Given the description of an element on the screen output the (x, y) to click on. 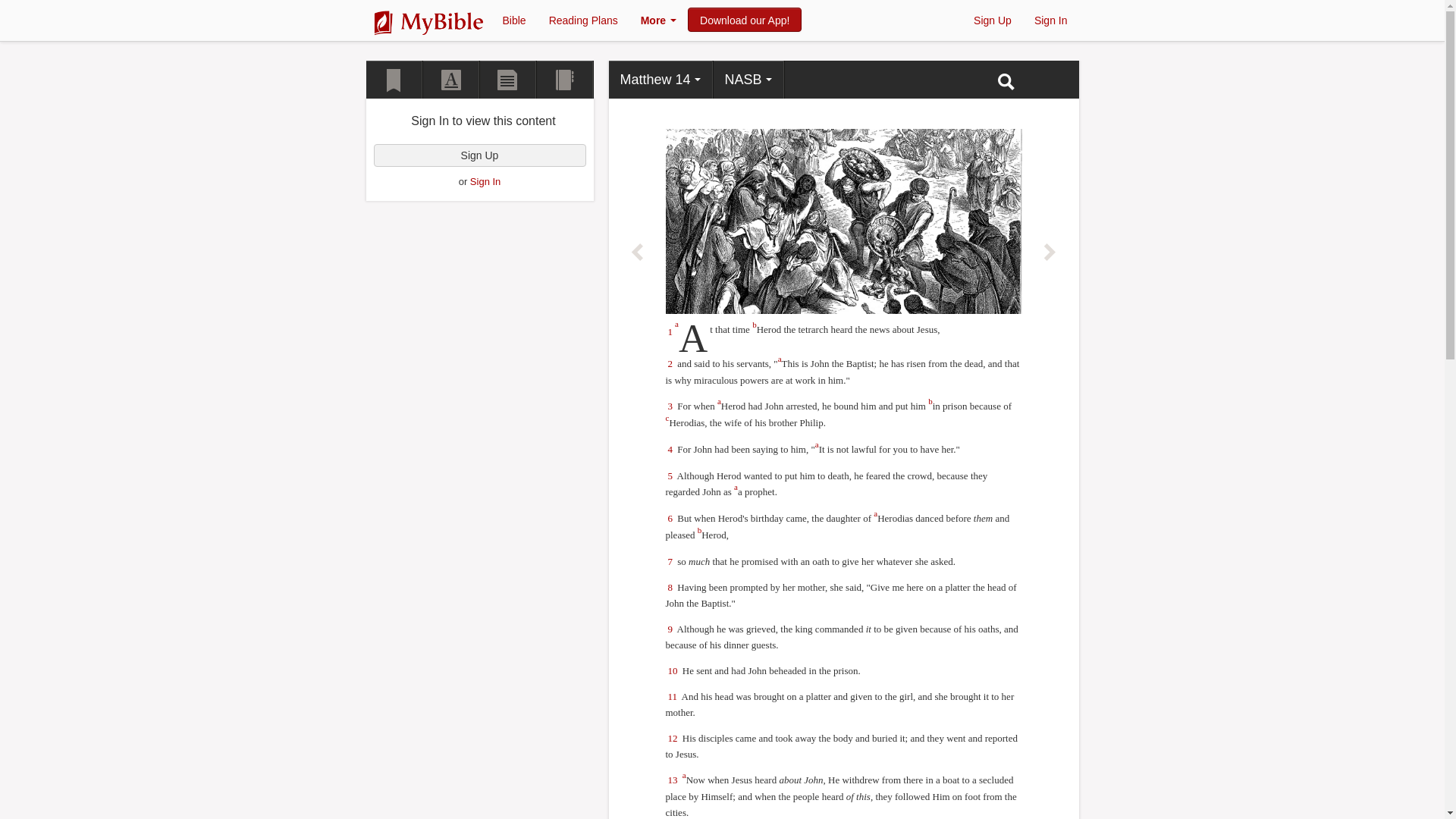
More (657, 17)
Matthew 14 (660, 79)
Sign Up (992, 17)
Sign In to view your highlights (451, 79)
Sign In to view your notes (507, 79)
Sign In (1050, 17)
Reading Plans (582, 17)
Bible (514, 17)
Sign In to view your reading plans (565, 79)
Sign In to view your bookmarks (393, 79)
Download our App! (744, 19)
